Given the description of an element on the screen output the (x, y) to click on. 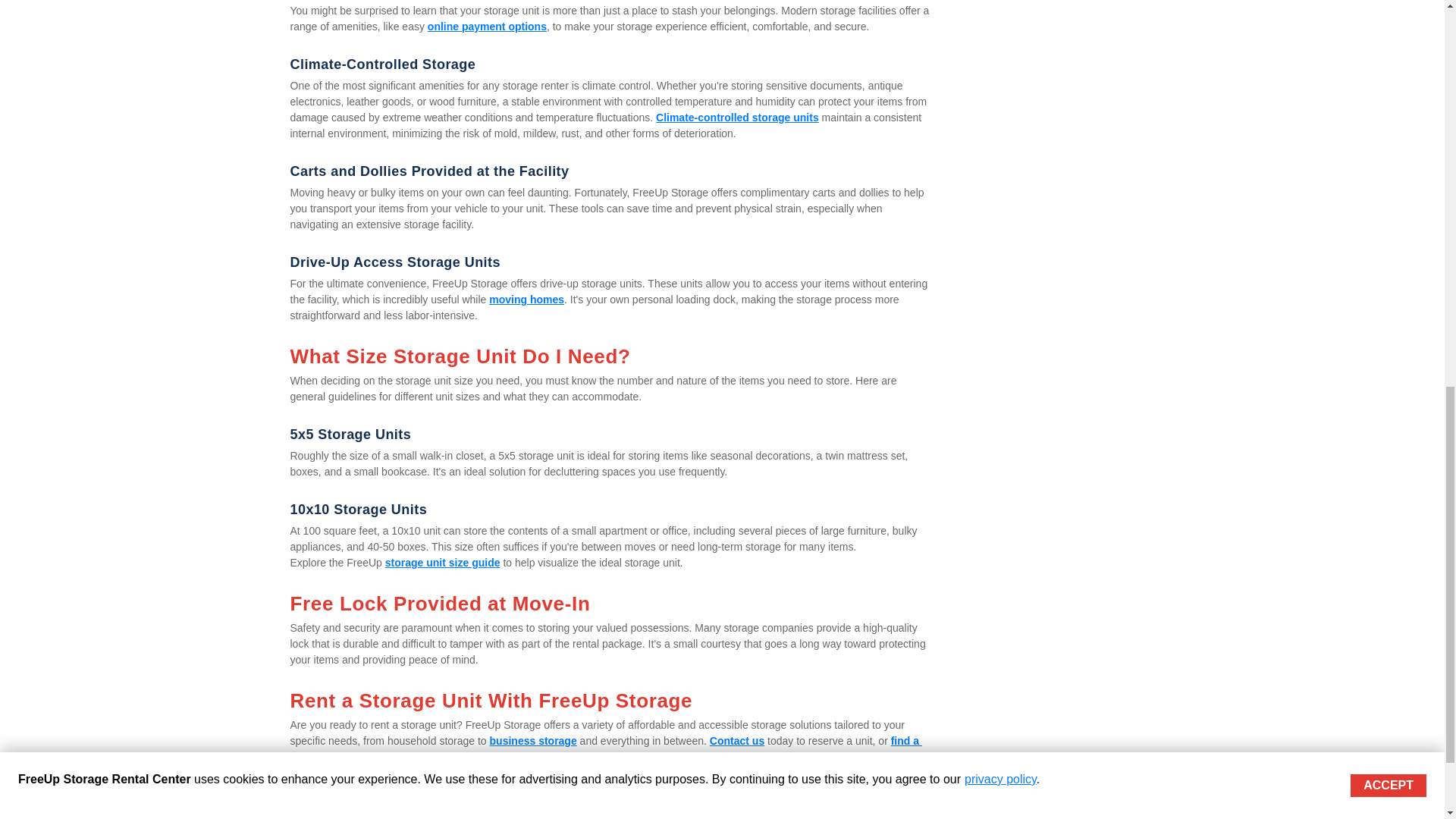
Climate-controlled storage units (737, 117)
find a location near you (605, 748)
moving homes (526, 299)
business storage (532, 740)
storage unit size guide (442, 562)
Contact us (737, 740)
online payment options (487, 26)
